Given the description of an element on the screen output the (x, y) to click on. 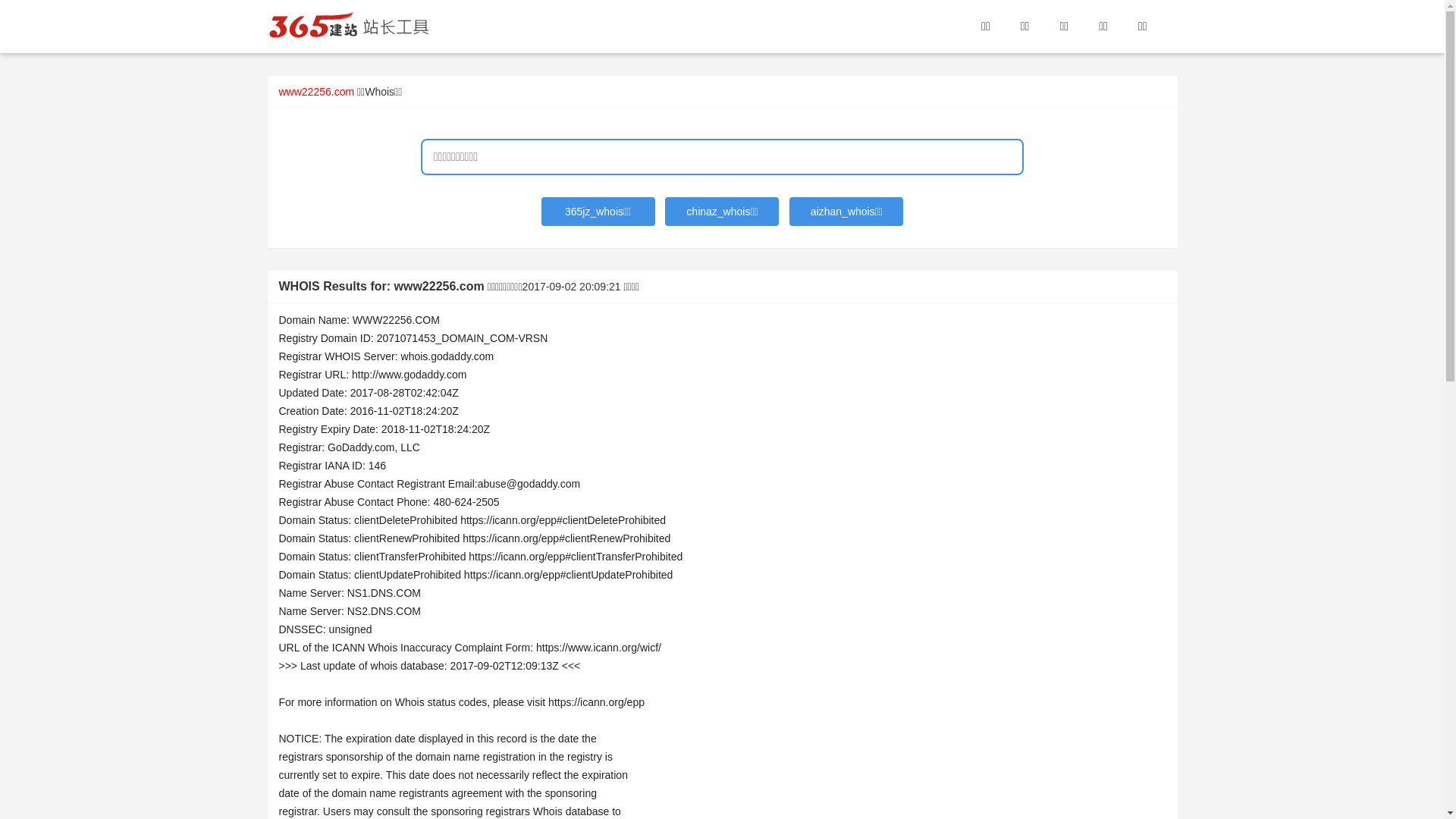
www22256.com Element type: text (316, 91)
